Given the description of an element on the screen output the (x, y) to click on. 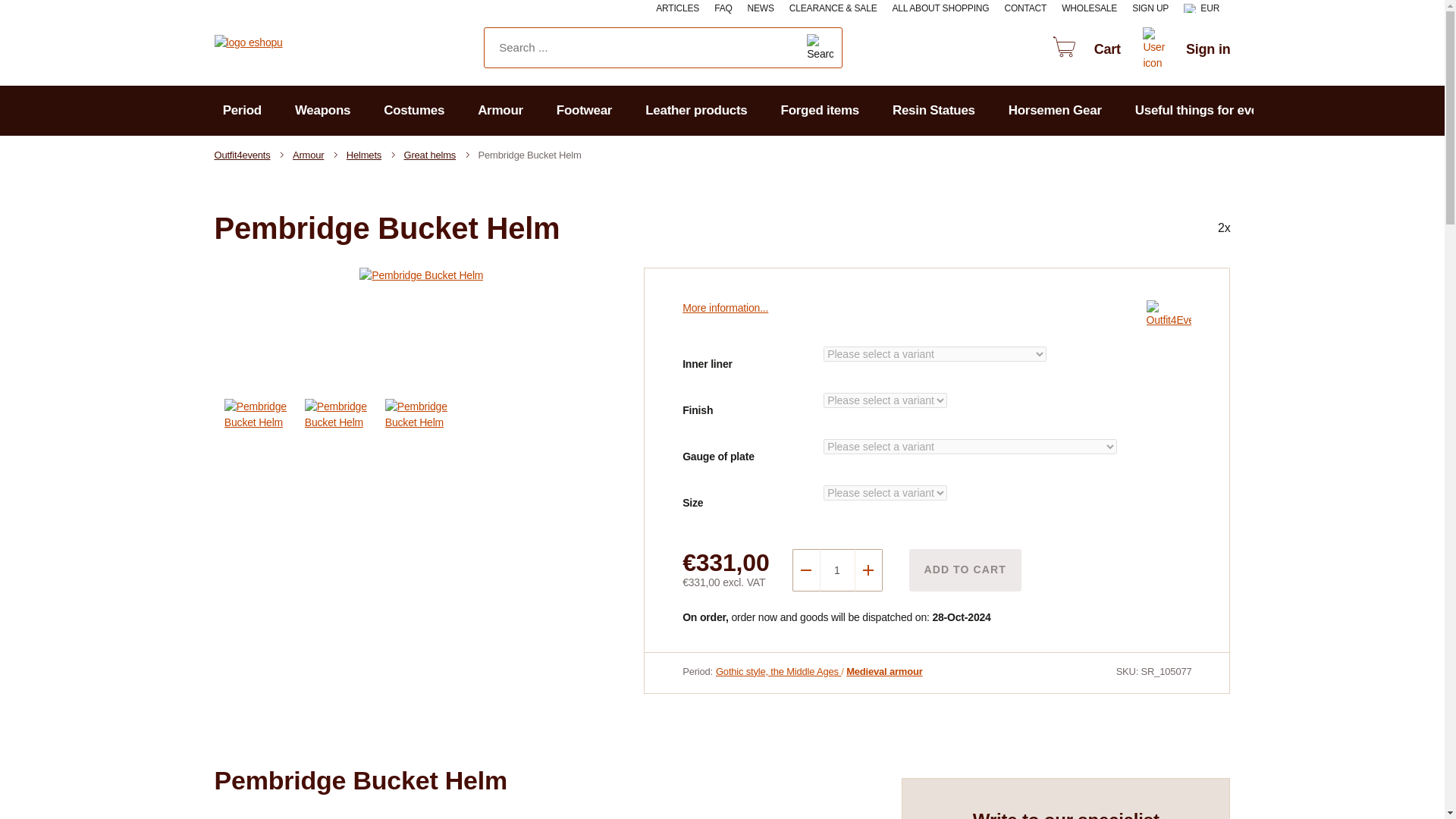
Sign in (1182, 49)
2x (1163, 227)
More information... (725, 307)
SIGN UP (1150, 8)
FAQ (723, 8)
ARTICLES (677, 8)
ALL ABOUT SHOPPING (939, 8)
NEWS (761, 8)
WHOLESALE (1088, 8)
EUR (1206, 8)
